Given the description of an element on the screen output the (x, y) to click on. 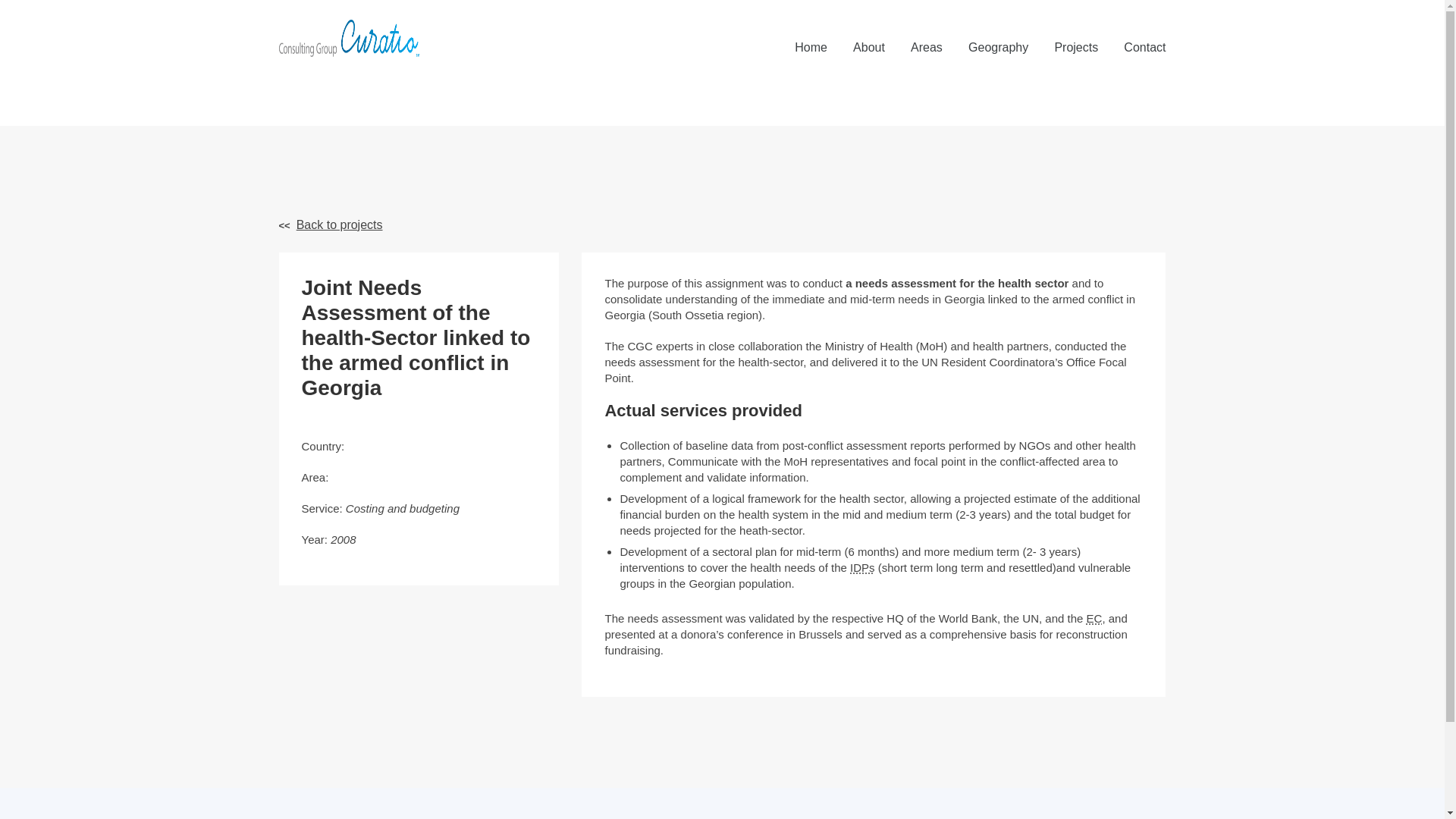
European Commission (1094, 617)
Back to projects (330, 225)
Internally Displaced Person (862, 567)
